Given the description of an element on the screen output the (x, y) to click on. 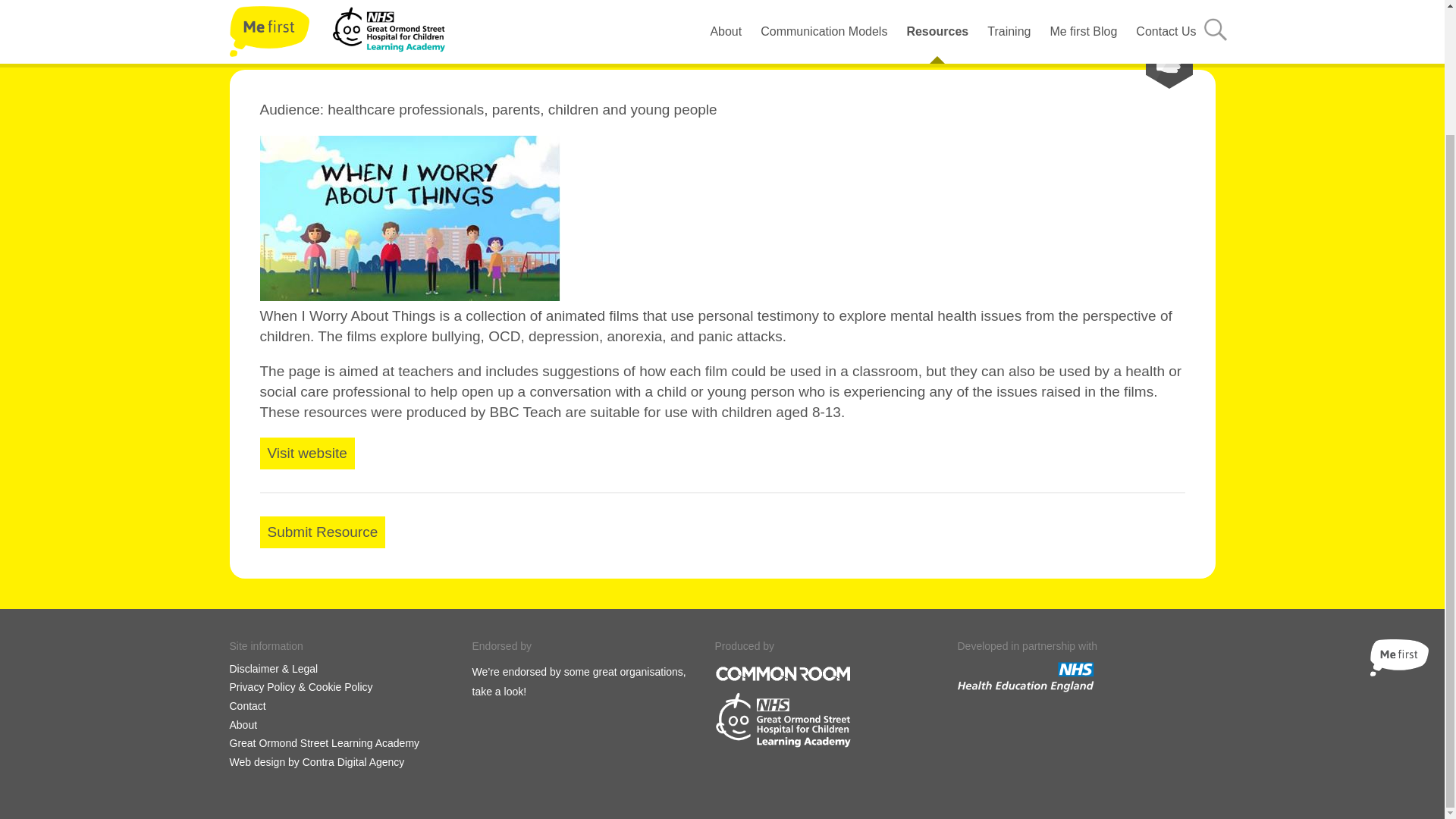
Great Ormond Street Learning Academy (323, 743)
1 likes (1144, 60)
Submit Resource (322, 531)
Me first (1398, 658)
Contact (246, 706)
Web design by Contra Digital Agency (316, 762)
Endorsed by (501, 645)
About (242, 725)
Visit website (306, 453)
